Given the description of an element on the screen output the (x, y) to click on. 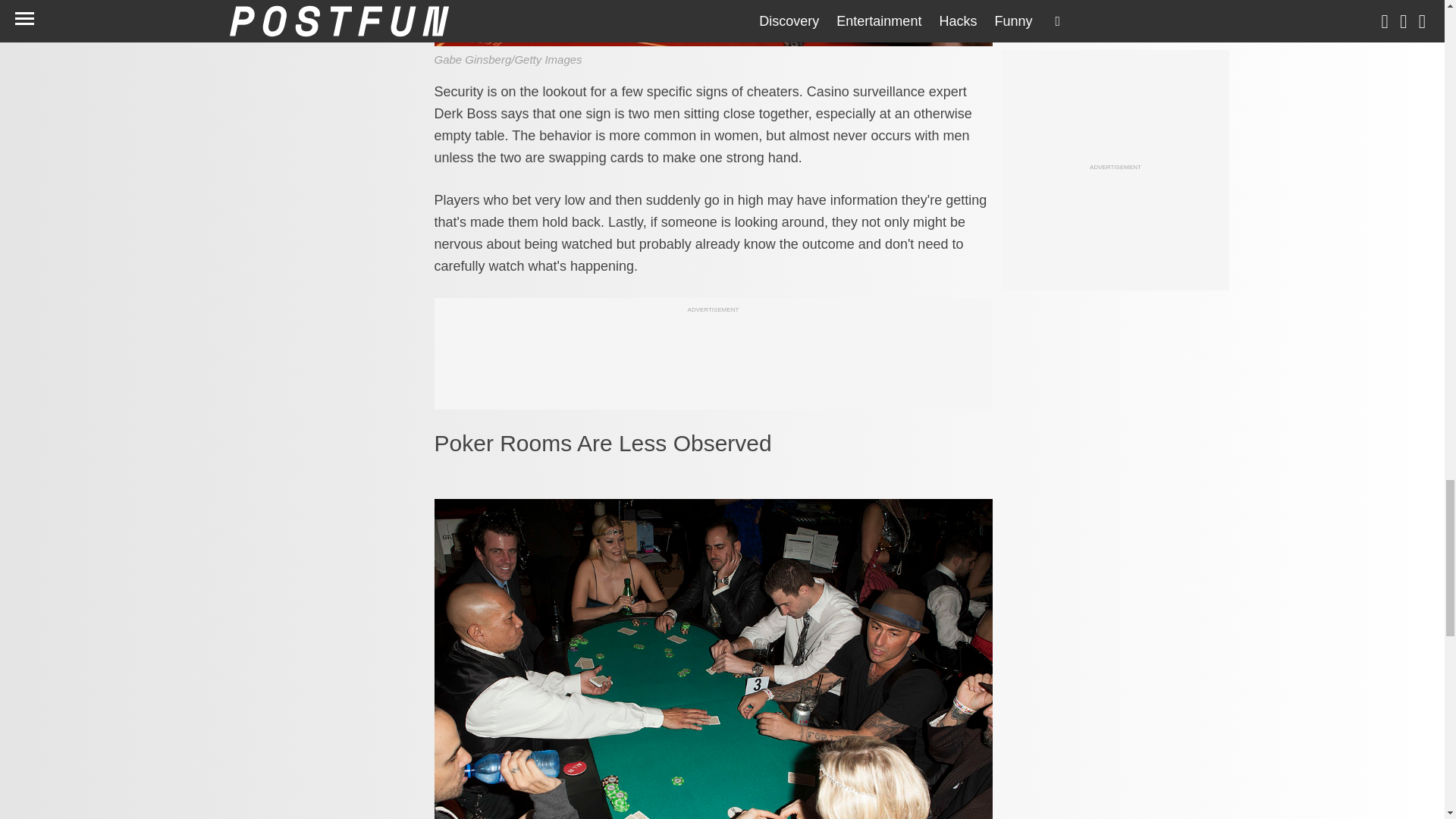
A Woman Overtly Checks Her Deck (712, 22)
